Given the description of an element on the screen output the (x, y) to click on. 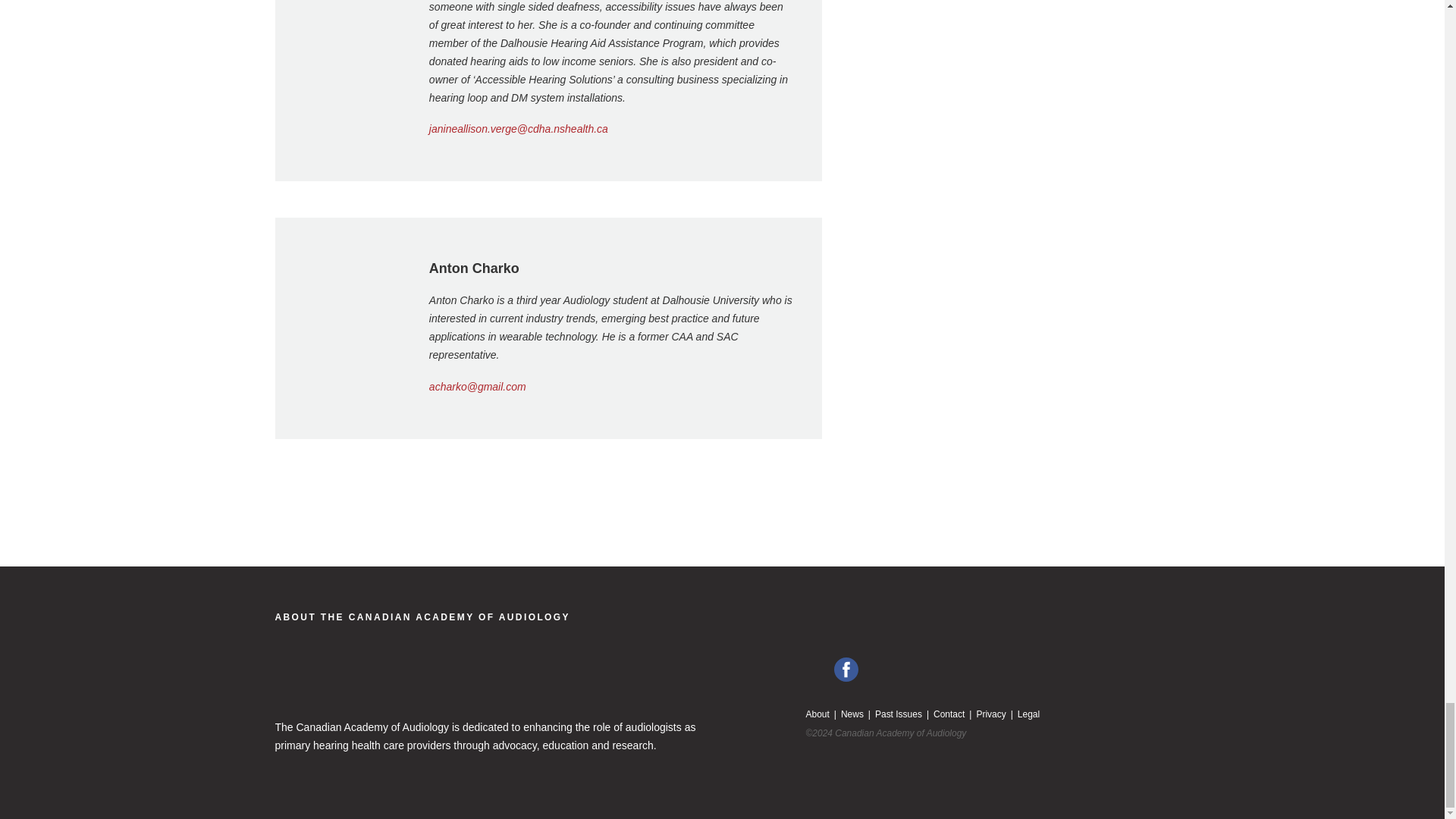
Follow Canadian Audiologists on Twitter (874, 669)
Like Canadian Audiologists on Facebook (846, 669)
Canadian Audiologists on LinkedIn (817, 669)
The Canadian Academy of Audiology (422, 616)
The Canadian Academy of Audiology (379, 681)
